Given the description of an element on the screen output the (x, y) to click on. 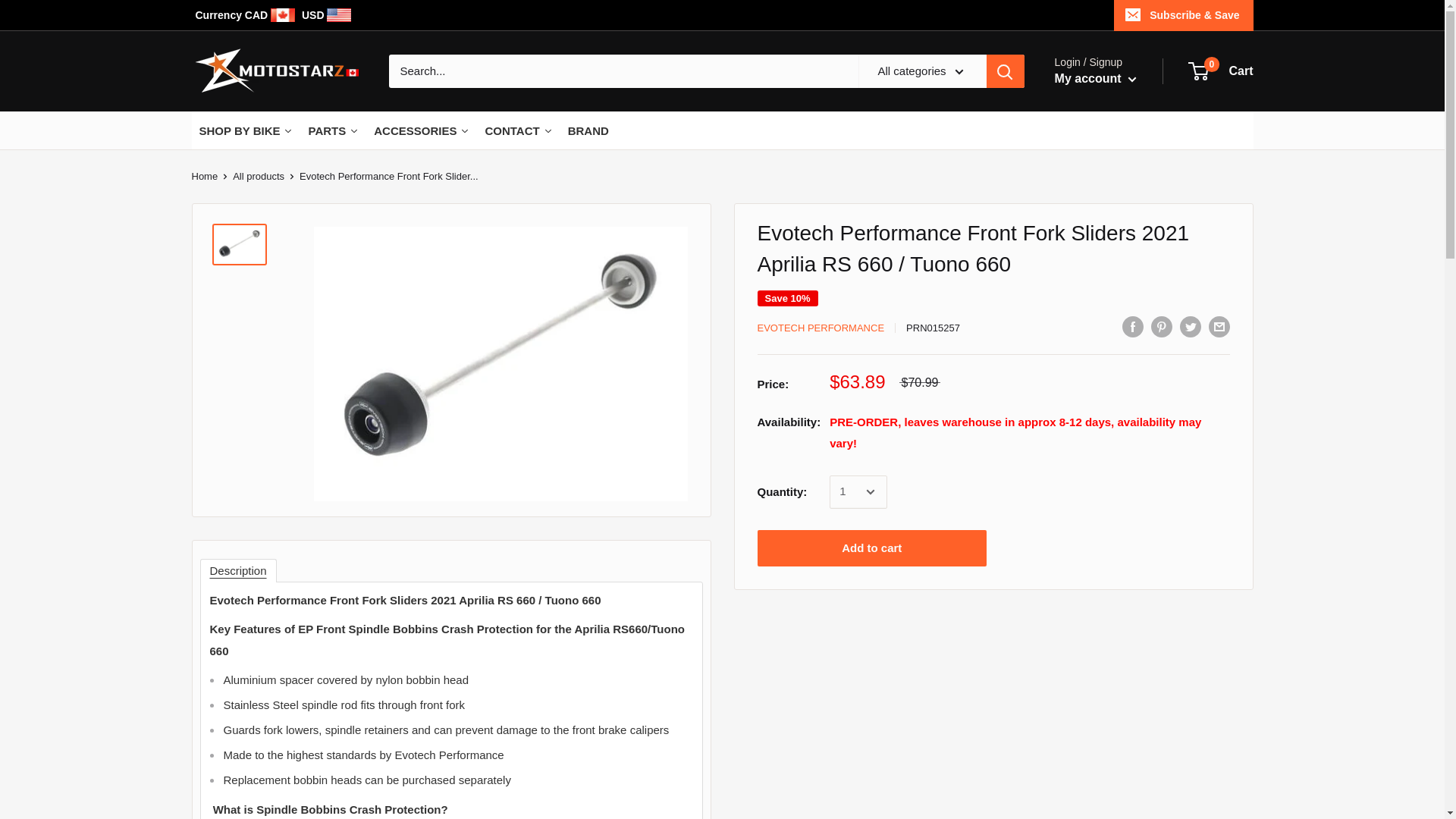
My account (1095, 78)
SHOP BY BIKE (244, 130)
Currency CAD (246, 15)
BRAND (587, 130)
All products (257, 175)
CONTACT (518, 130)
ACCESSORIES (421, 130)
USD (325, 15)
Home (203, 175)
PARTS (332, 130)
